Given the description of an element on the screen output the (x, y) to click on. 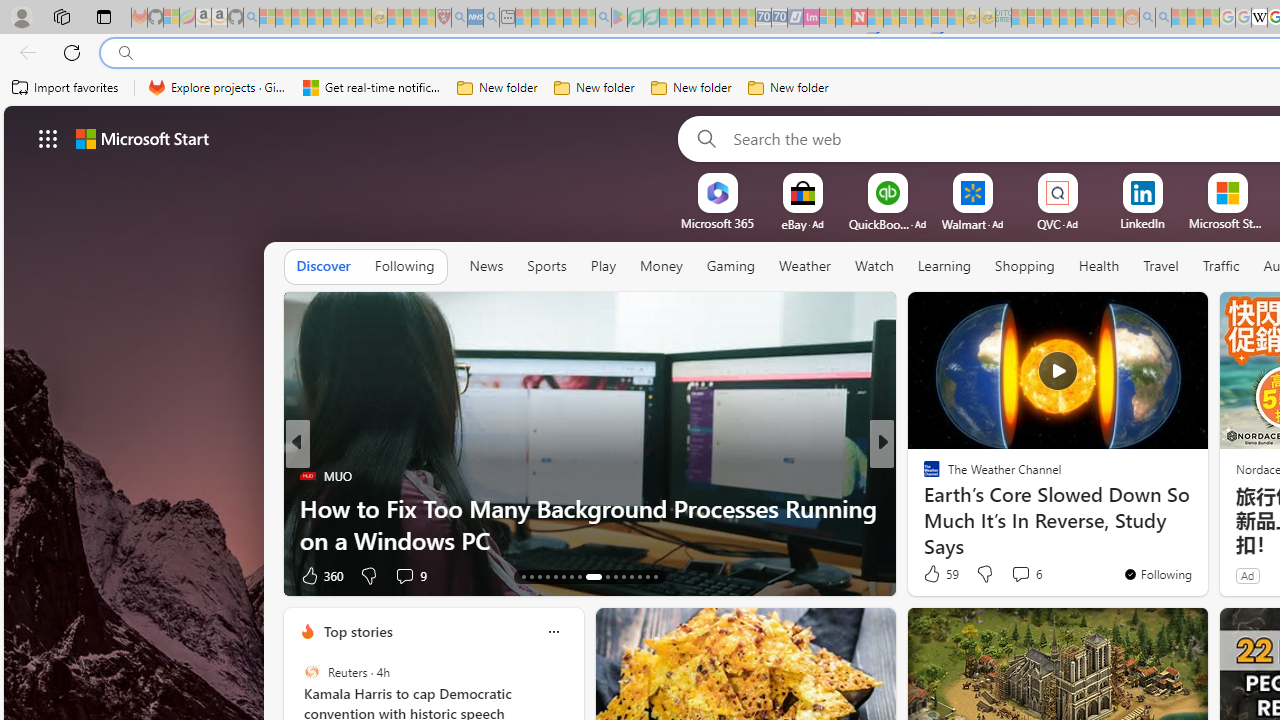
Play (602, 265)
Weather (804, 267)
Health (1099, 265)
AutomationID: tab-25 (631, 576)
409 Like (936, 574)
Learning (944, 267)
24 Like (934, 574)
